Given the description of an element on the screen output the (x, y) to click on. 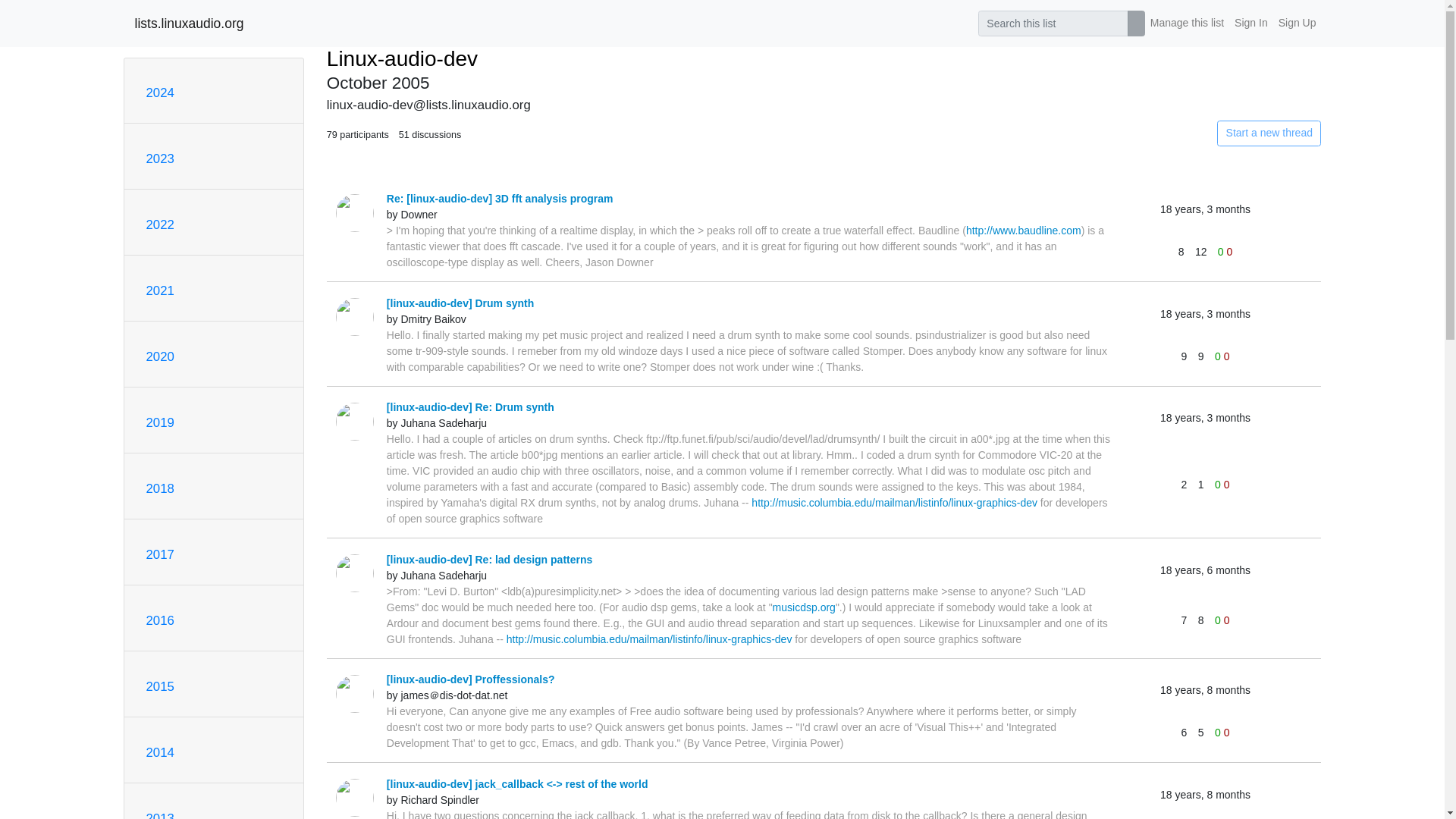
You must be logged-in to create a thread. (1162, 133)
lists.linuxaudio.org (189, 22)
Saturday, 18 February 2006 05:07:58 (1205, 570)
Monday, 15 May 2006 10:30:41 (1205, 417)
Sign In (1250, 22)
Sign Up (1297, 22)
2024 (159, 92)
2023 (159, 158)
Manage this list (1186, 22)
Tuesday, 16 May 2006 09:41:09 (1205, 209)
